Given the description of an element on the screen output the (x, y) to click on. 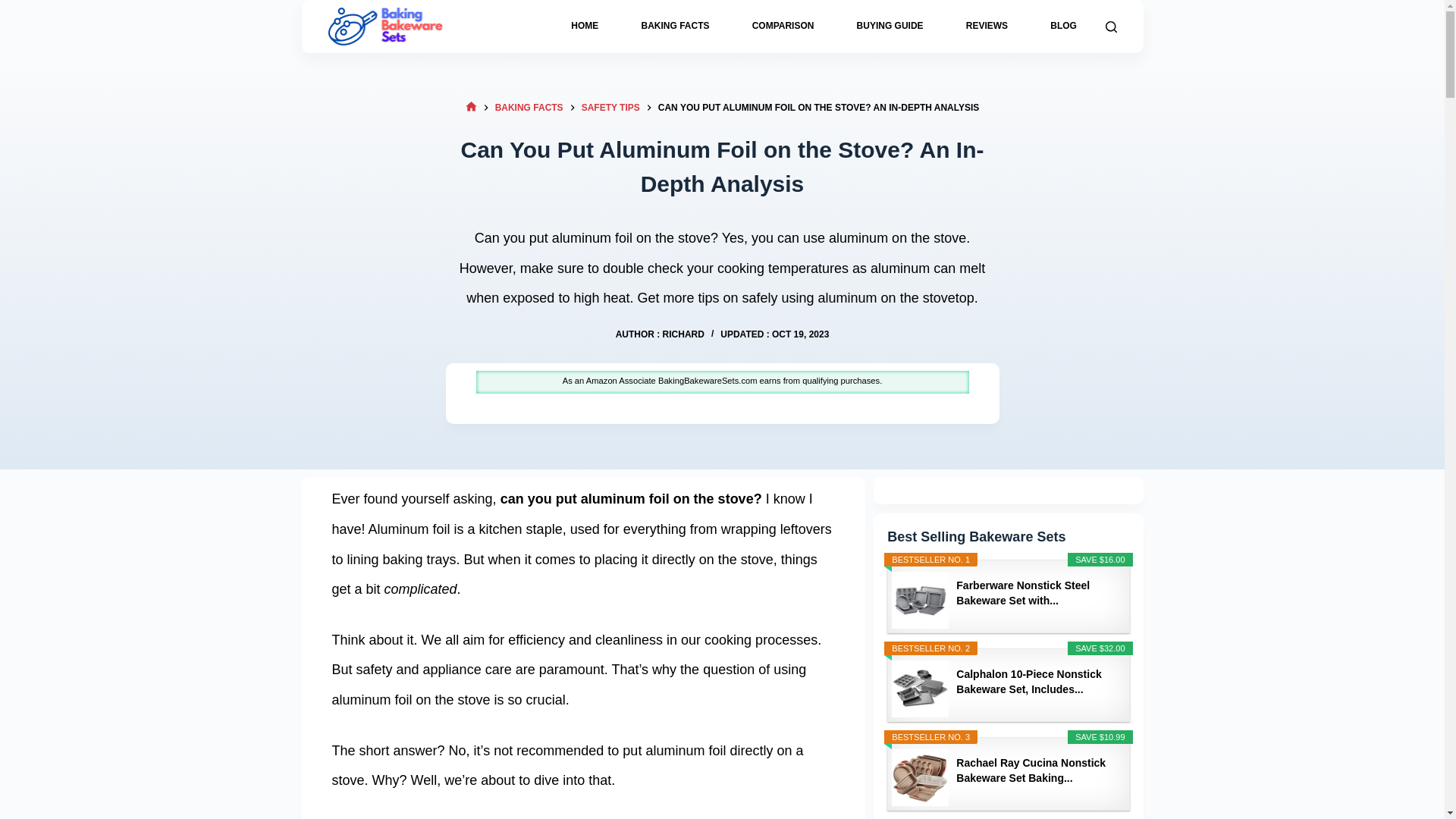
RICHARD (683, 334)
SAFETY TIPS (610, 107)
REVIEWS (986, 26)
HOME (584, 26)
Can You Put Aluminum Foil on the Stove? An In-Depth Analysis (721, 166)
Skip to content (15, 7)
BLOG (1063, 26)
